Given the description of an element on the screen output the (x, y) to click on. 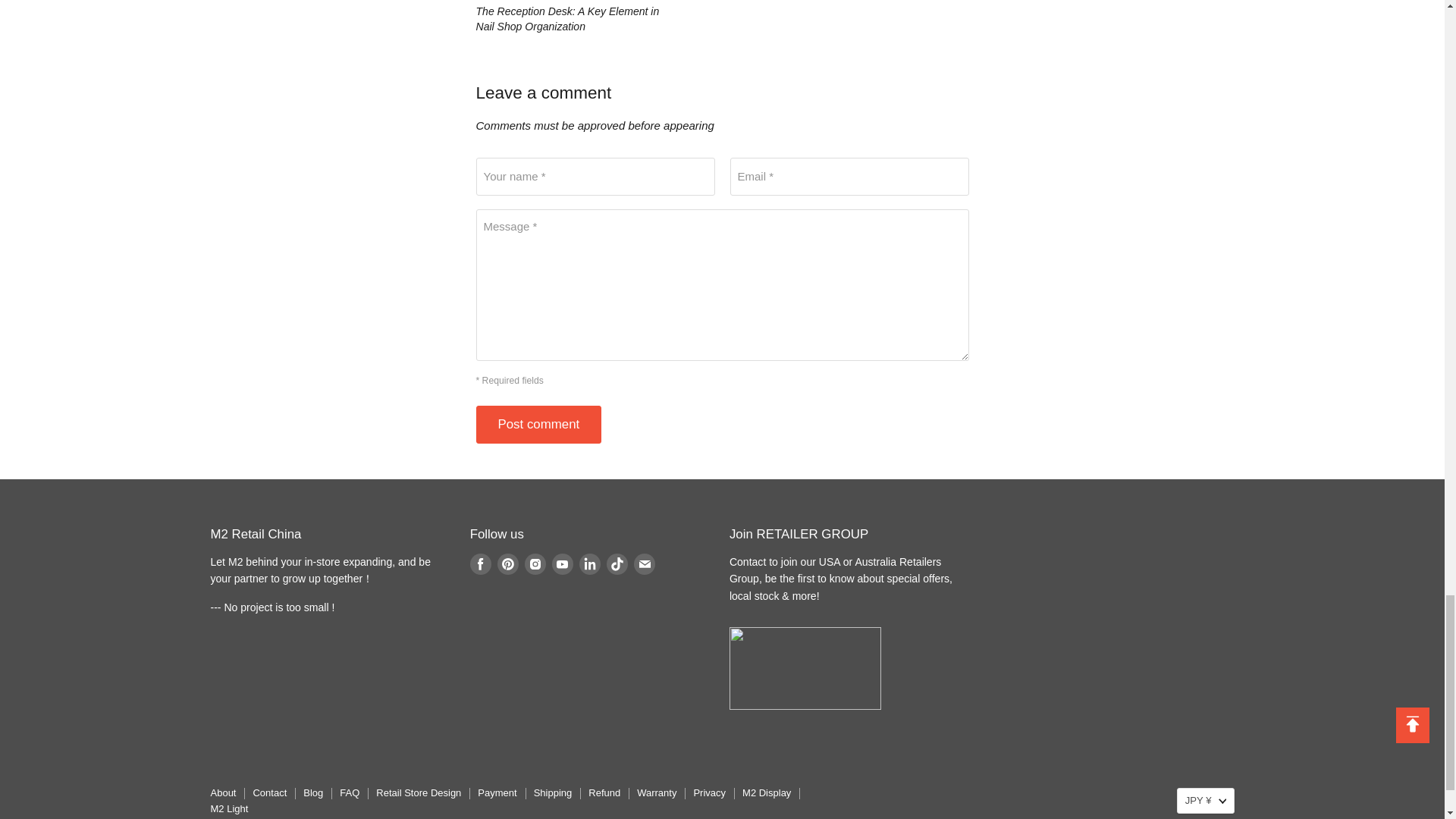
Facebook (481, 563)
Tiktok (617, 563)
Pinterest (507, 563)
Email (644, 563)
LinkedIn (589, 563)
Youtube (562, 563)
Instagram (535, 563)
